Given the description of an element on the screen output the (x, y) to click on. 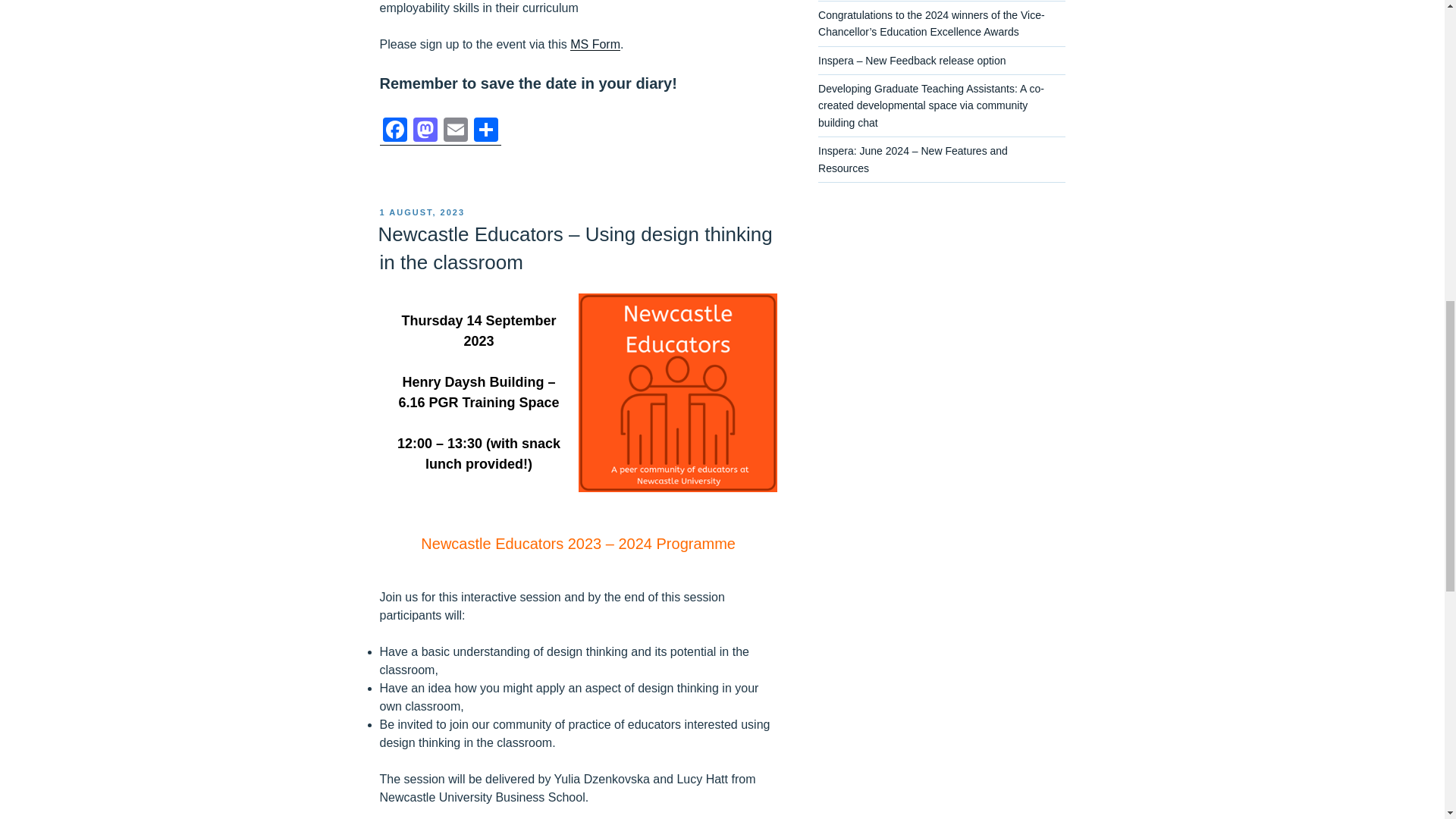
Email (454, 131)
Mastodon (424, 131)
Facebook (393, 131)
